Given the description of an element on the screen output the (x, y) to click on. 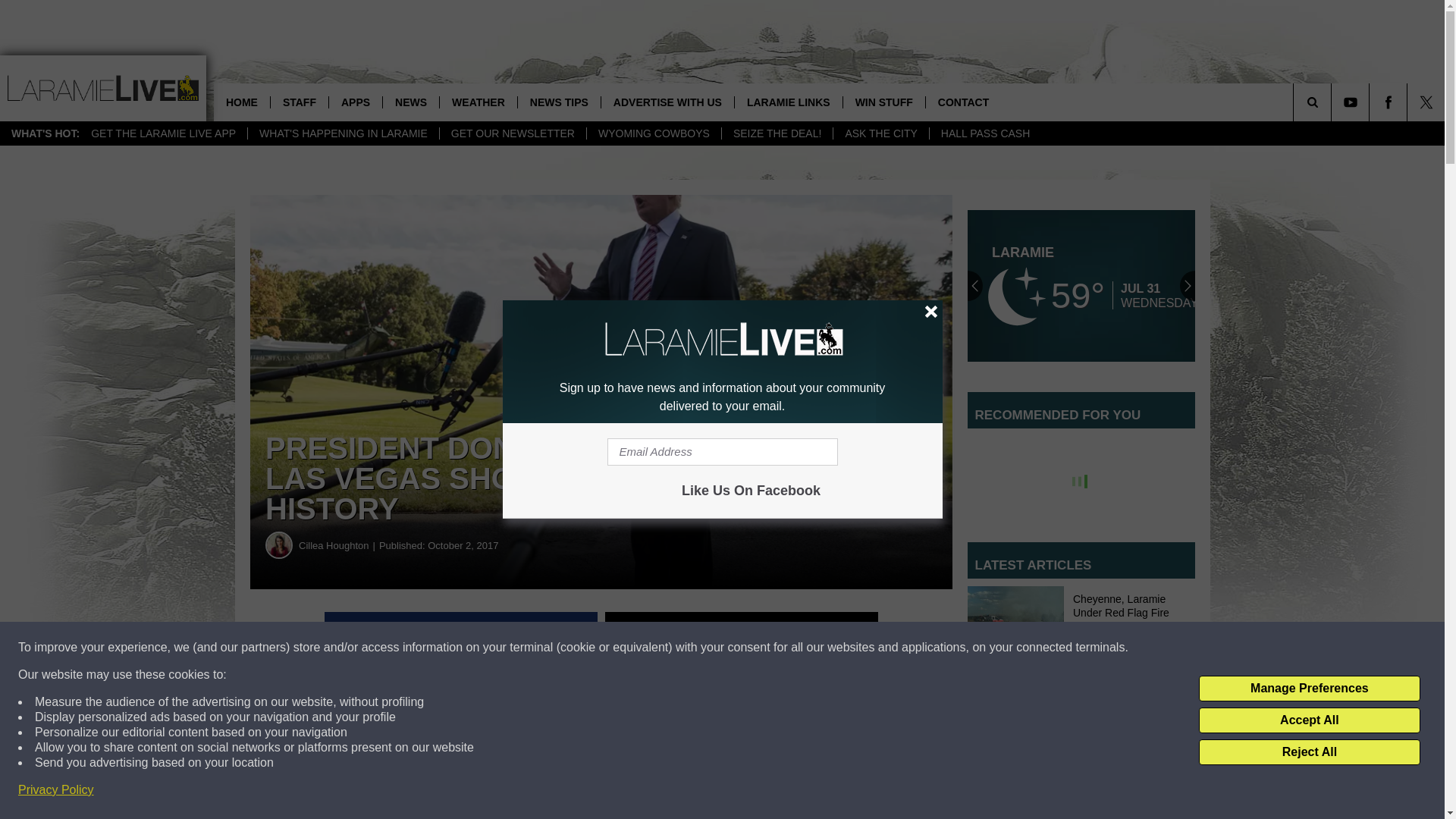
Privacy Policy (55, 789)
ADVERTISE WITH US (666, 102)
Share on Facebook (460, 630)
GET THE LARAMIE LIVE APP (163, 133)
HOME (241, 102)
SEARCH (1333, 102)
Reject All (1309, 751)
Manage Preferences (1309, 688)
Laramie Weather (1081, 285)
LARAMIE LINKS (788, 102)
NEWS (410, 102)
Share on Twitter (741, 630)
NEWS TIPS (557, 102)
STAFF (299, 102)
GET OUR NEWSLETTER (512, 133)
